Given the description of an element on the screen output the (x, y) to click on. 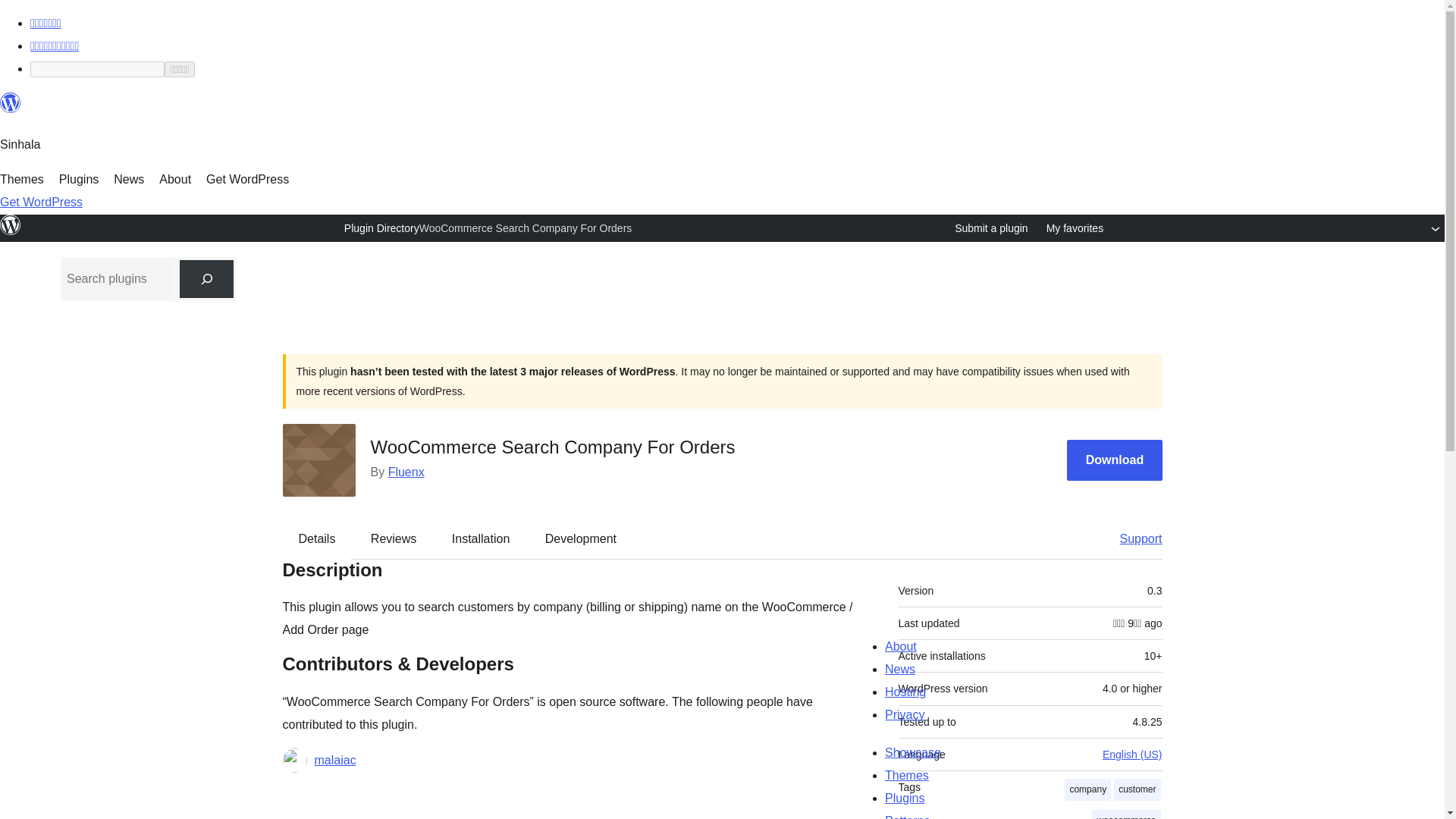
Plugin Directory (381, 227)
Reviews (392, 538)
Details (316, 538)
WordPress.org (10, 109)
About (174, 179)
Submit a plugin (991, 228)
WordPress.org (10, 102)
Support (1132, 538)
Download (1114, 460)
Fluenx (406, 472)
News (128, 179)
Themes (21, 179)
Installation (480, 538)
WooCommerce Search Company For Orders (525, 228)
malaiac (334, 760)
